Given the description of an element on the screen output the (x, y) to click on. 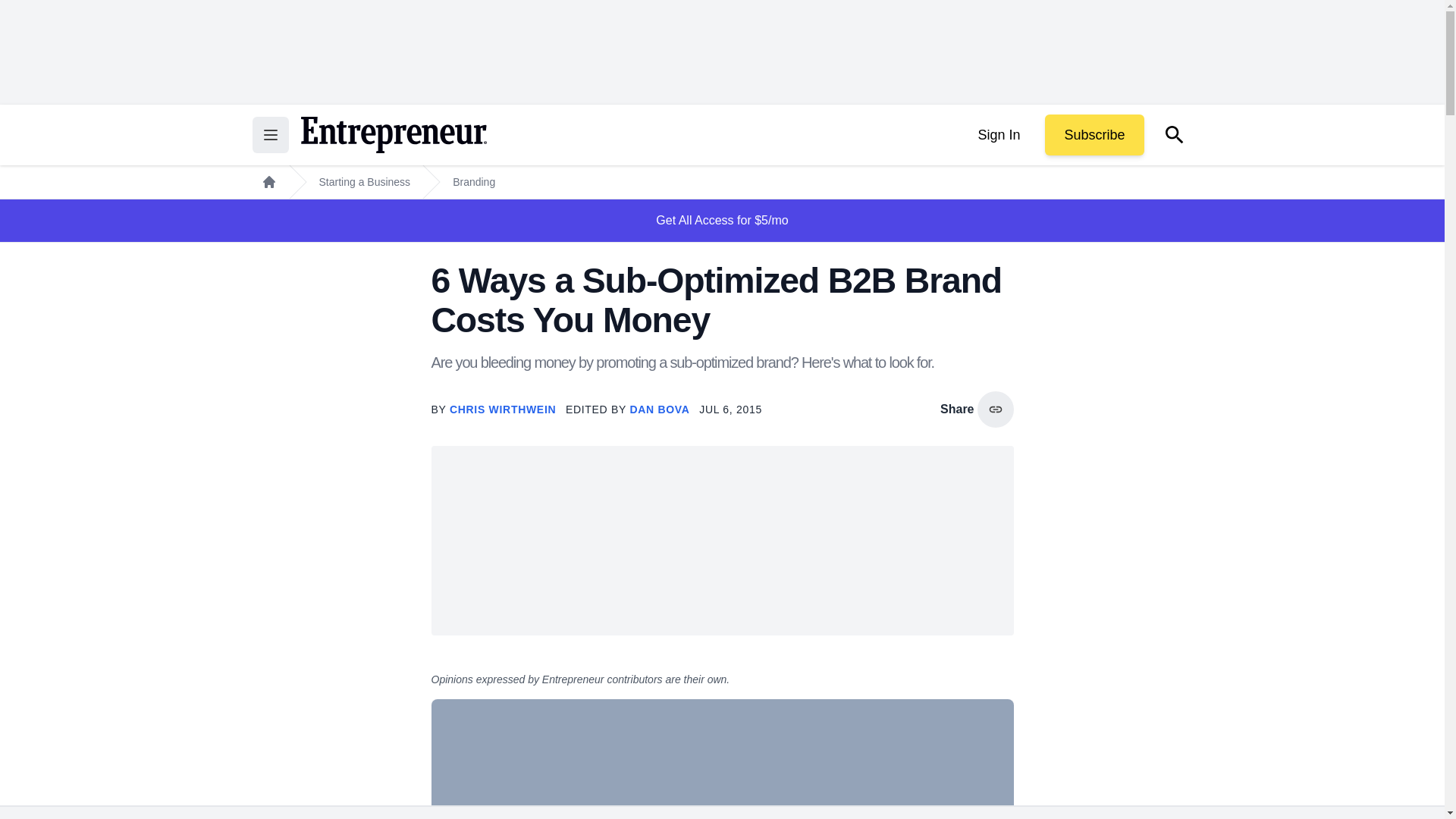
copy (994, 409)
Sign In (998, 134)
Return to the home page (392, 135)
Subscribe (1093, 134)
